Given the description of an element on the screen output the (x, y) to click on. 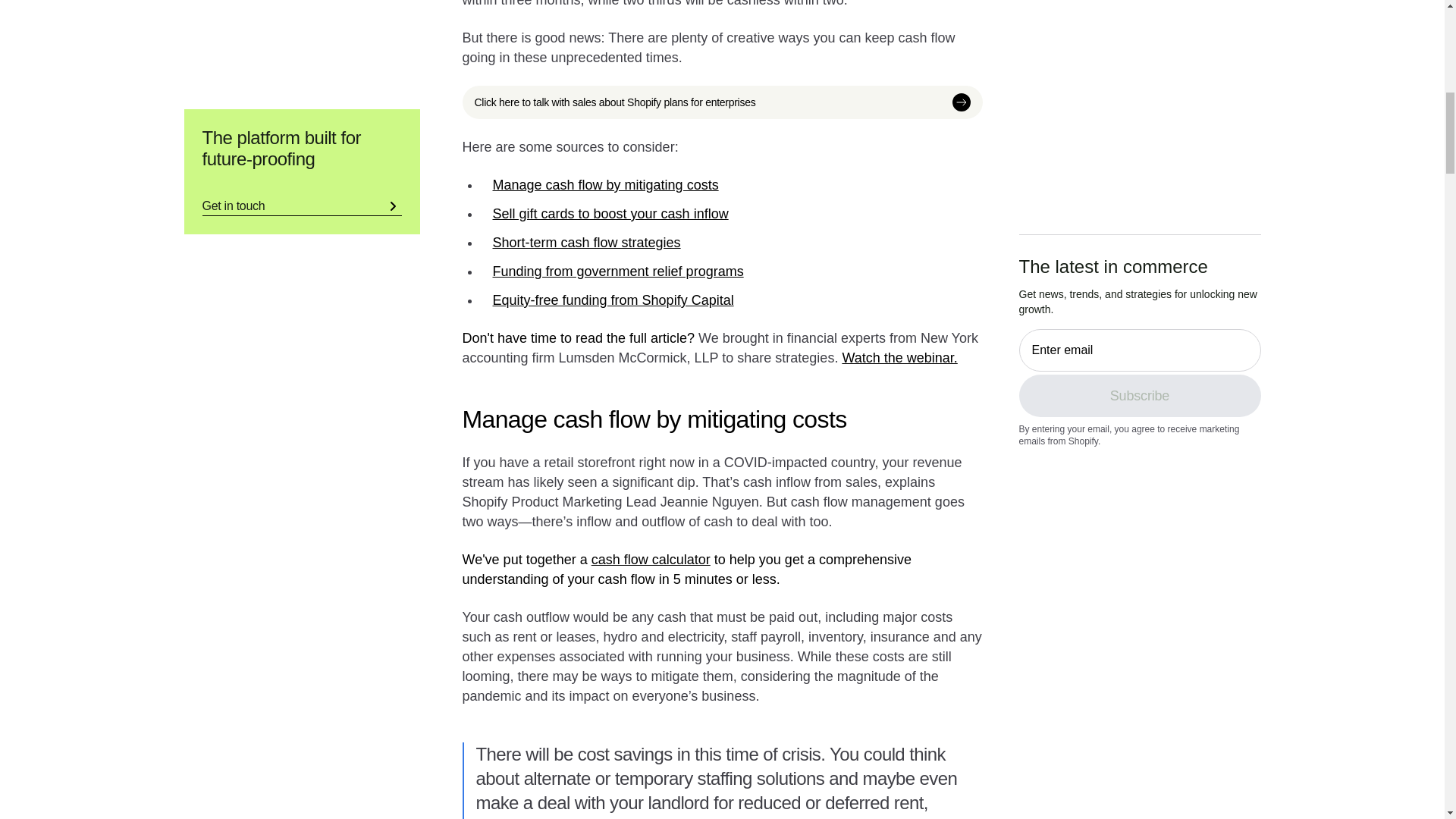
shopify plus finance webinar (898, 357)
cash flow calculator (650, 559)
